Given the description of an element on the screen output the (x, y) to click on. 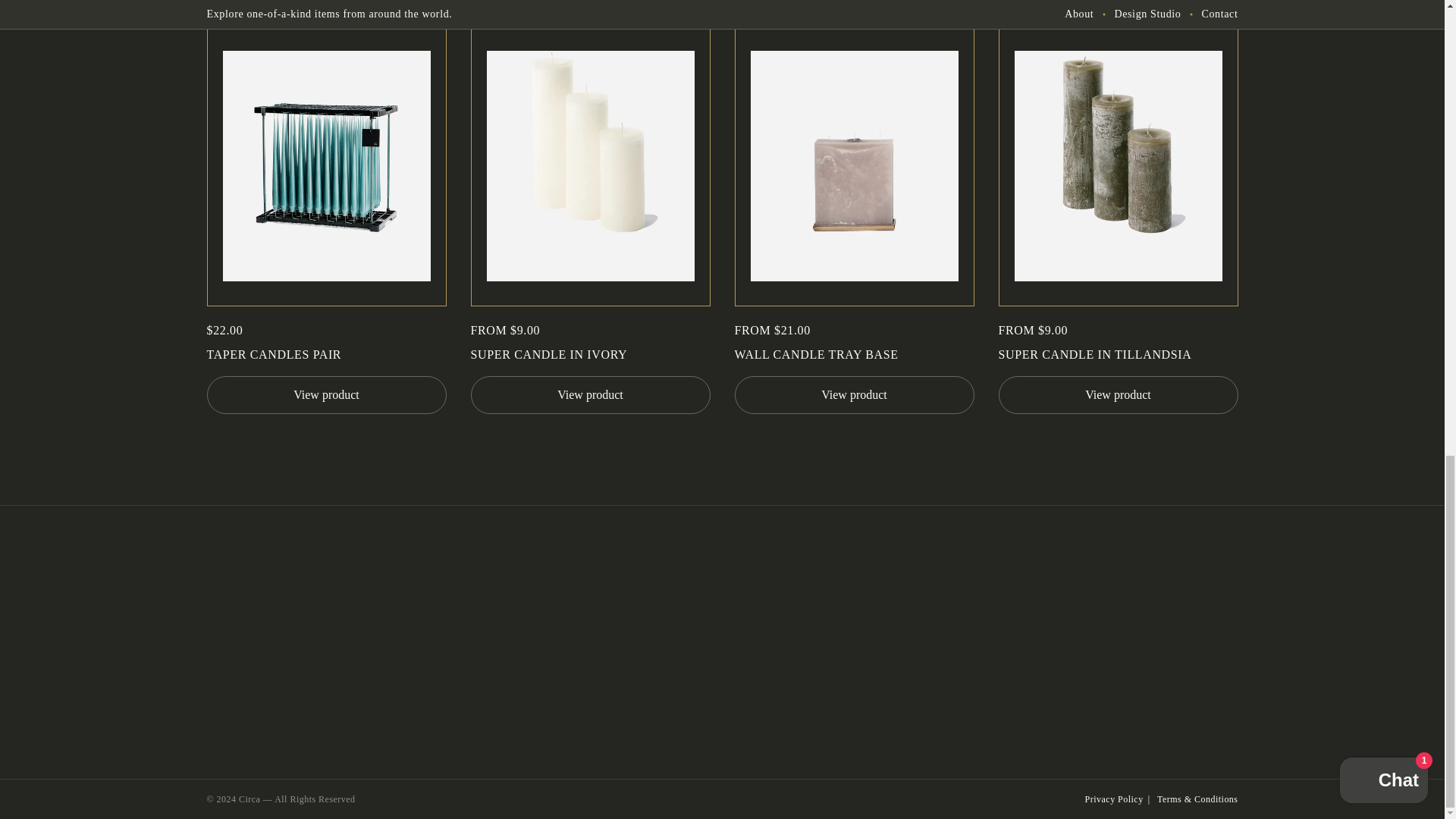
Super Candle in Tillandsia (1117, 354)
Taper Candles Pair (325, 354)
Super Candle in Ivory (590, 354)
Wall Candle Tray Base (853, 354)
